Given the description of an element on the screen output the (x, y) to click on. 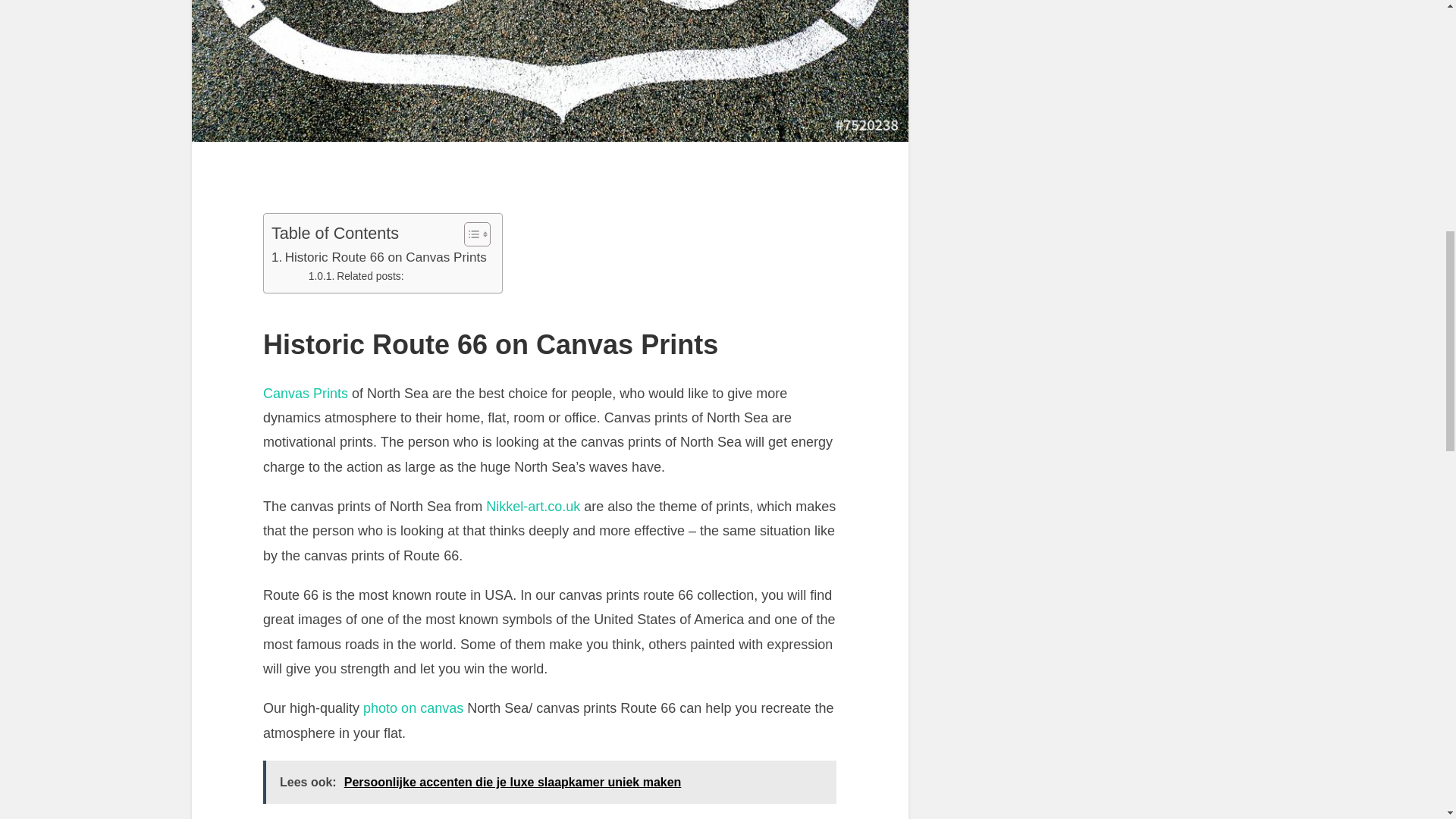
Canvas Prints (305, 393)
Historic Route 66 on Canvas Prints (378, 257)
Related posts: (356, 275)
Canvas Prints (305, 393)
Related posts: (356, 275)
Nikkel-art.co.uk (532, 506)
photo on canvas (412, 708)
Nikkel-art.co.uk (532, 506)
Historic Route 66 on Canvas Prints (378, 257)
photo on canvas (412, 708)
